Given the description of an element on the screen output the (x, y) to click on. 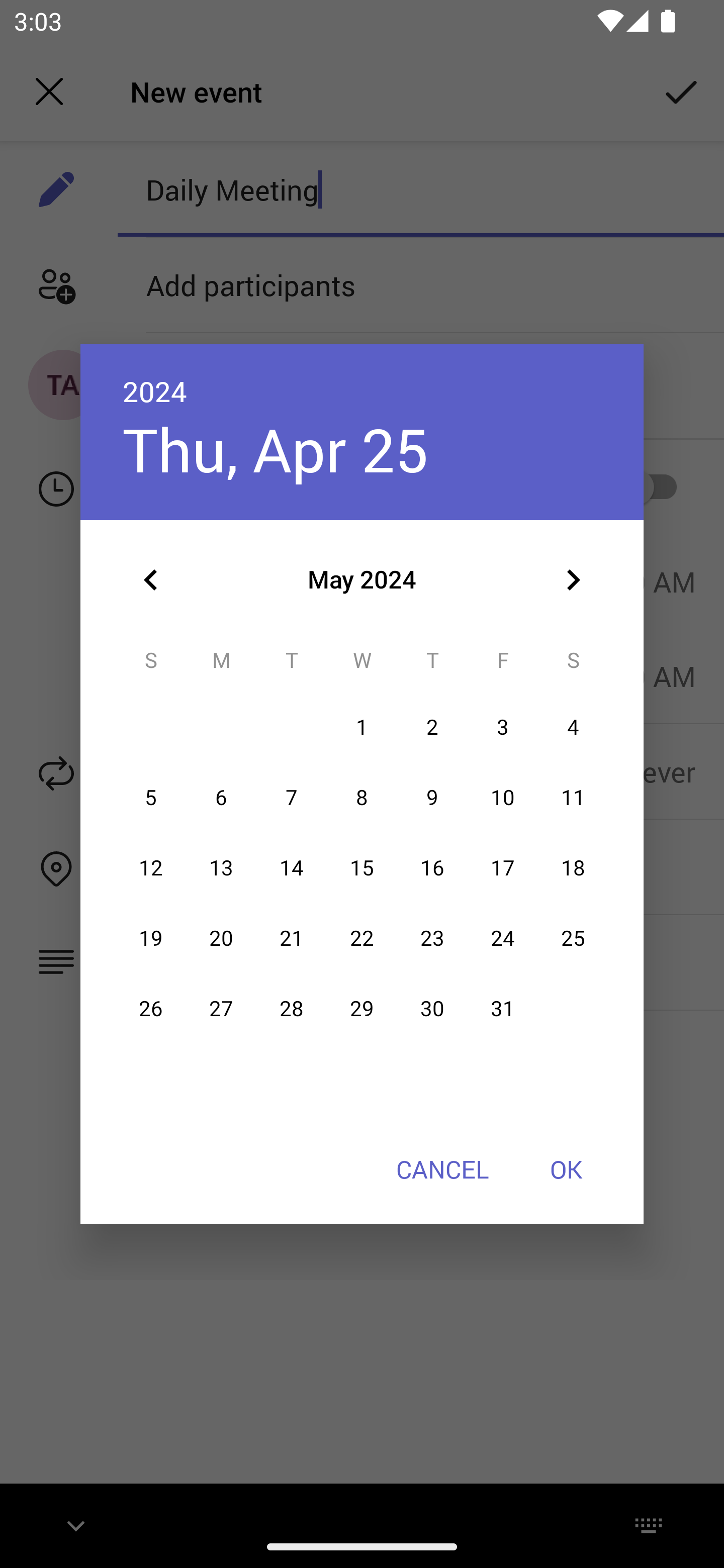
2024 (154, 391)
Thu, Apr 25 (275, 449)
Previous month (150, 579)
Next month (572, 579)
1 01 May 2024 (361, 728)
2 02 May 2024 (432, 728)
3 03 May 2024 (502, 728)
4 04 May 2024 (572, 728)
5 05 May 2024 (150, 797)
6 06 May 2024 (221, 797)
7 07 May 2024 (291, 797)
8 08 May 2024 (361, 797)
9 09 May 2024 (432, 797)
10 10 May 2024 (502, 797)
11 11 May 2024 (572, 797)
12 12 May 2024 (150, 867)
13 13 May 2024 (221, 867)
14 14 May 2024 (291, 867)
15 15 May 2024 (361, 867)
16 16 May 2024 (432, 867)
17 17 May 2024 (502, 867)
18 18 May 2024 (572, 867)
19 19 May 2024 (150, 938)
20 20 May 2024 (221, 938)
21 21 May 2024 (291, 938)
22 22 May 2024 (361, 938)
23 23 May 2024 (432, 938)
24 24 May 2024 (502, 938)
25 25 May 2024 (572, 938)
26 26 May 2024 (150, 1008)
27 27 May 2024 (221, 1008)
28 28 May 2024 (291, 1008)
29 29 May 2024 (361, 1008)
30 30 May 2024 (432, 1008)
31 31 May 2024 (502, 1008)
CANCEL (442, 1168)
OK (565, 1168)
